Given the description of an element on the screen output the (x, y) to click on. 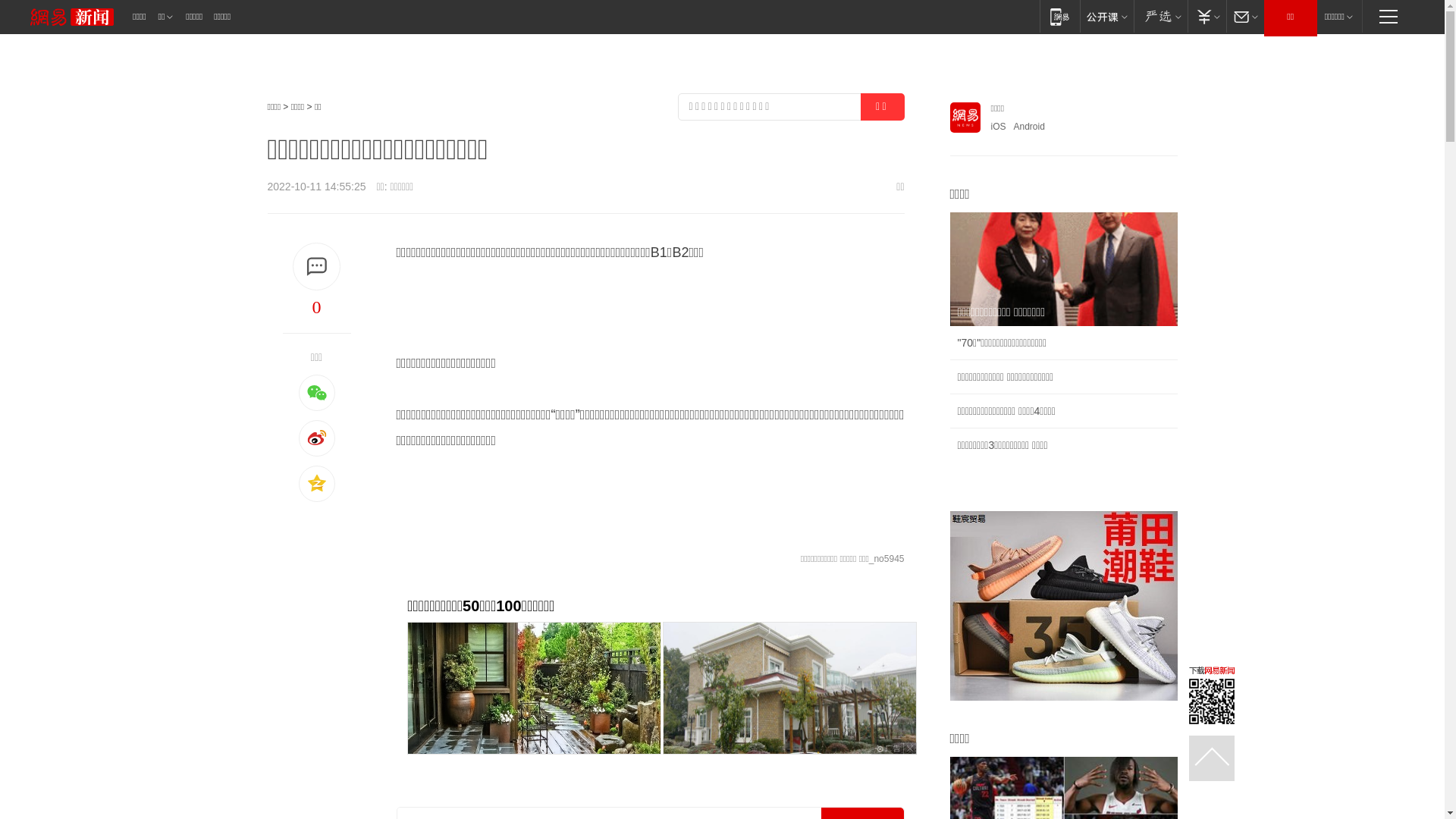
0 Element type: text (315, 306)
